Given the description of an element on the screen output the (x, y) to click on. 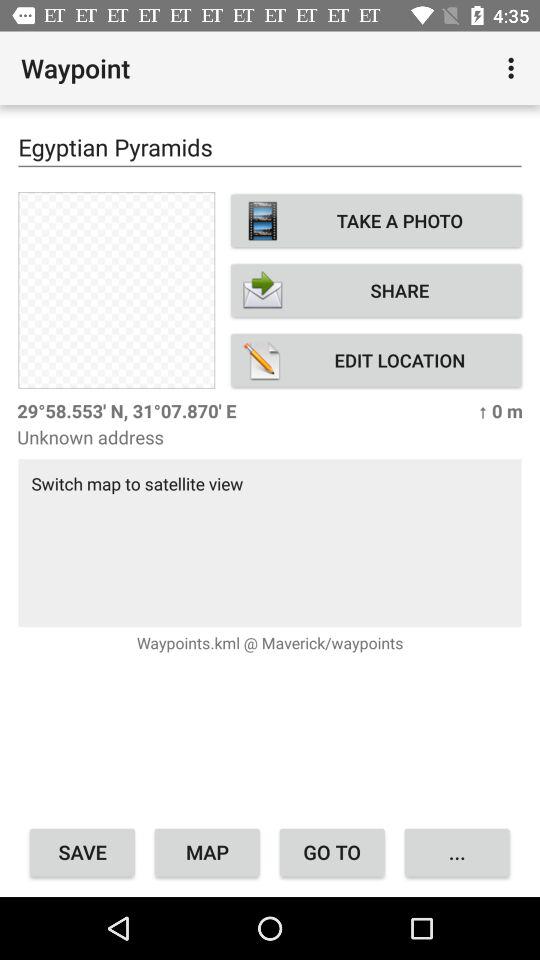
launch icon to the right of the go to (456, 851)
